Given the description of an element on the screen output the (x, y) to click on. 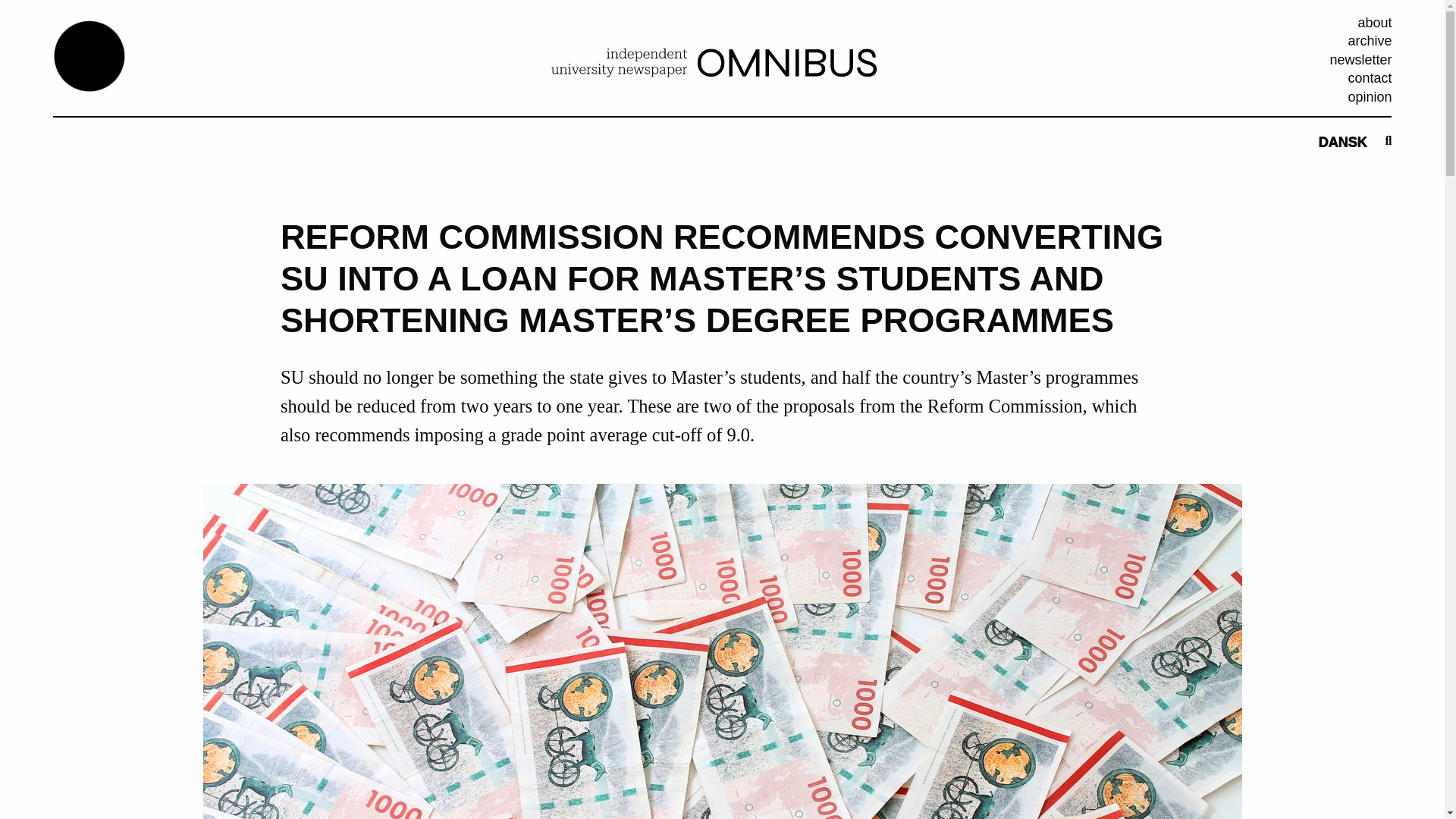
Dansk (1343, 142)
archive (1369, 40)
DANSK (1343, 142)
newsletter (1360, 59)
about (1373, 22)
contact (1369, 77)
opinion (1369, 96)
